Given the description of an element on the screen output the (x, y) to click on. 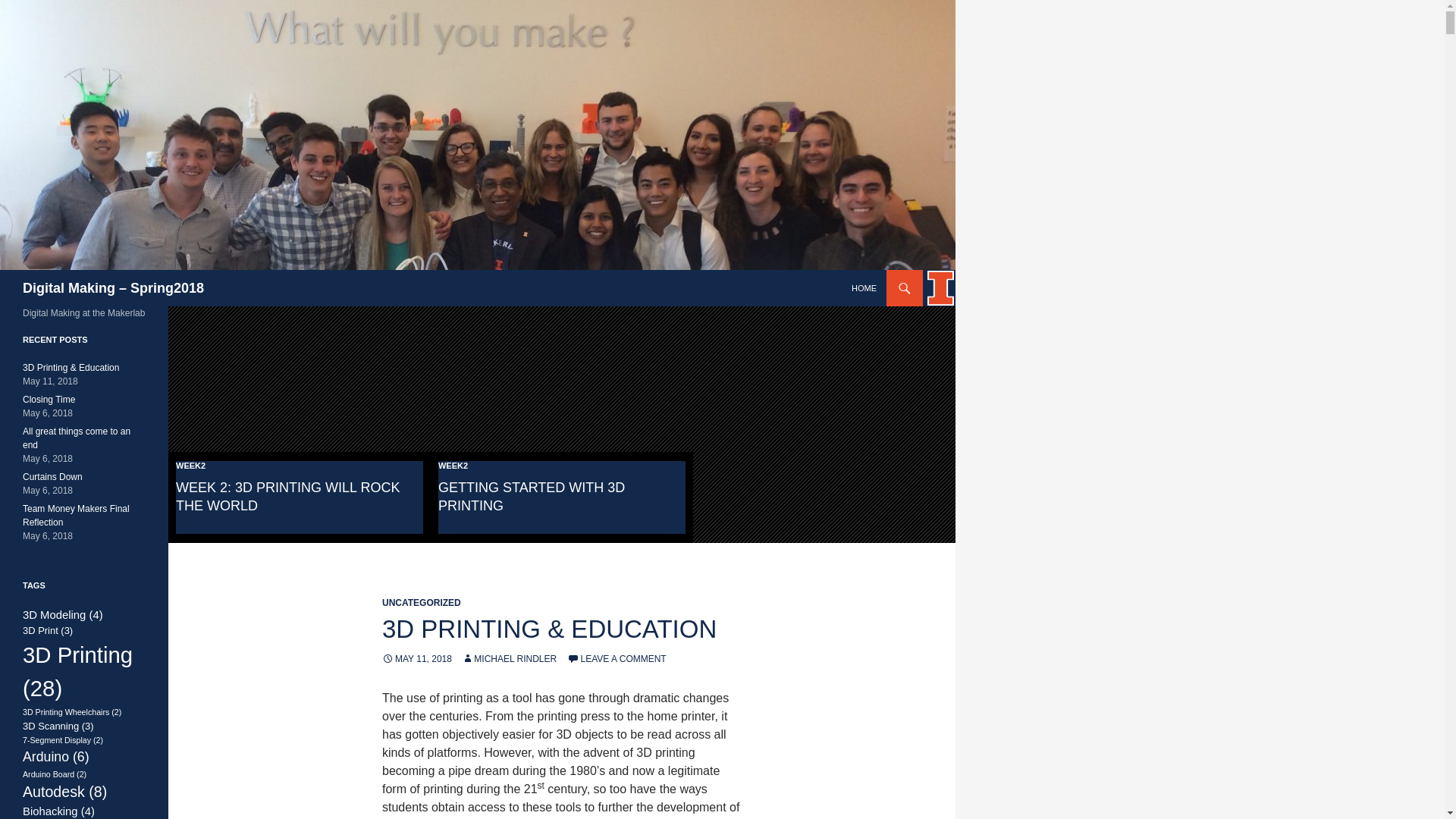
GETTING STARTED WITH 3D PRINTING (531, 496)
HOME (864, 288)
MICHAEL RINDLER (508, 658)
MAY 11, 2018 (416, 658)
WEEK2 (452, 465)
WEEK2 (190, 465)
LEAVE A COMMENT (616, 658)
UNCATEGORIZED (421, 602)
